Given the description of an element on the screen output the (x, y) to click on. 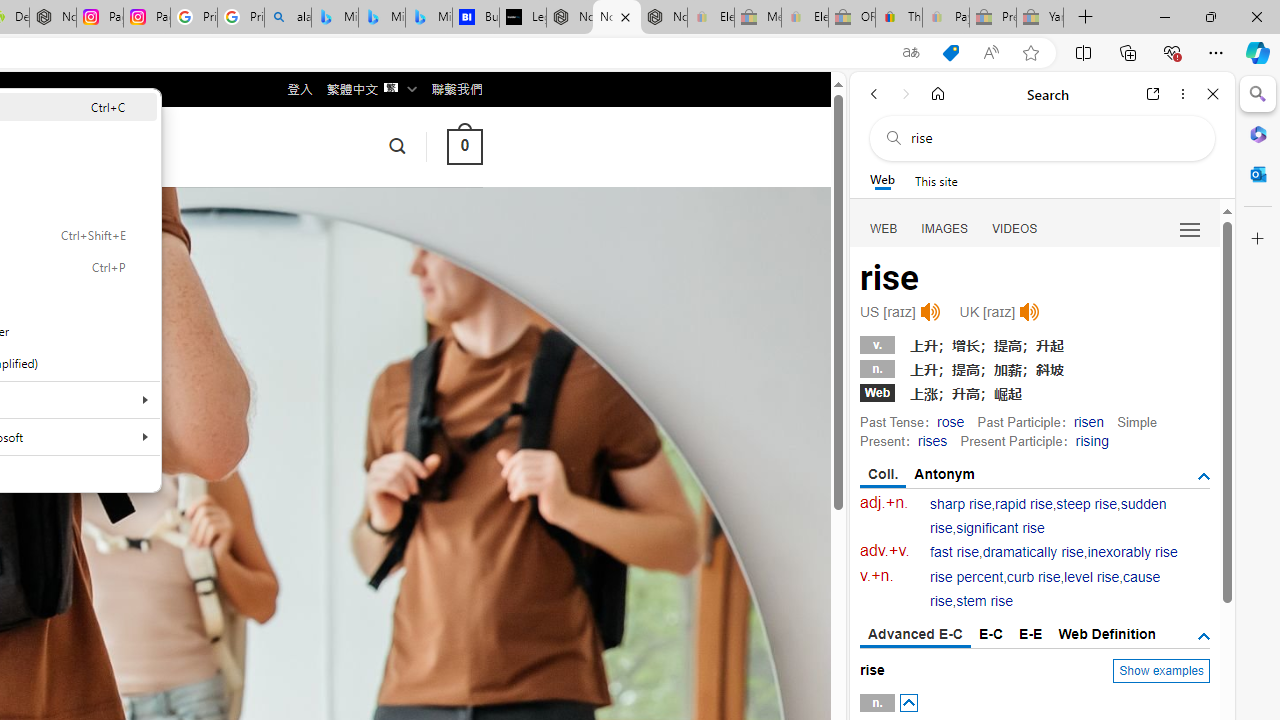
Payments Terms of Use | eBay.com - Sleeping (945, 17)
risen (1088, 421)
E-C (991, 633)
Microsoft Bing Travel - Flights from Hong Kong to Bangkok (335, 17)
AutomationID: tgdef (1203, 636)
Preferences (1189, 228)
